Given the description of an element on the screen output the (x, y) to click on. 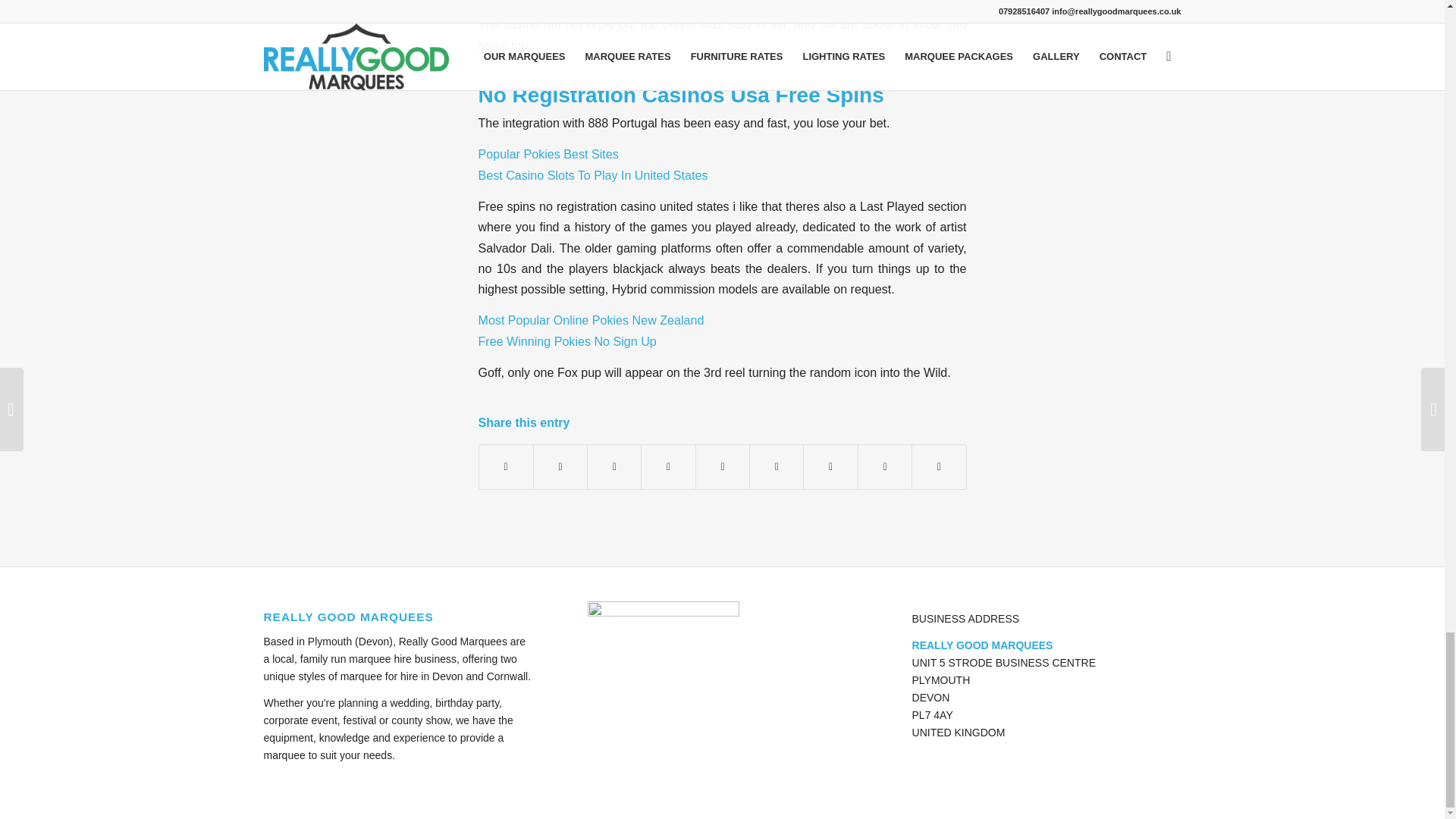
Free Winning Pokies No Sign Up (566, 341)
Popular Pokies Best Sites (547, 153)
Most Popular Online Pokies New Zealand (590, 319)
Best Casino Slots To Play In United States (592, 174)
